Given the description of an element on the screen output the (x, y) to click on. 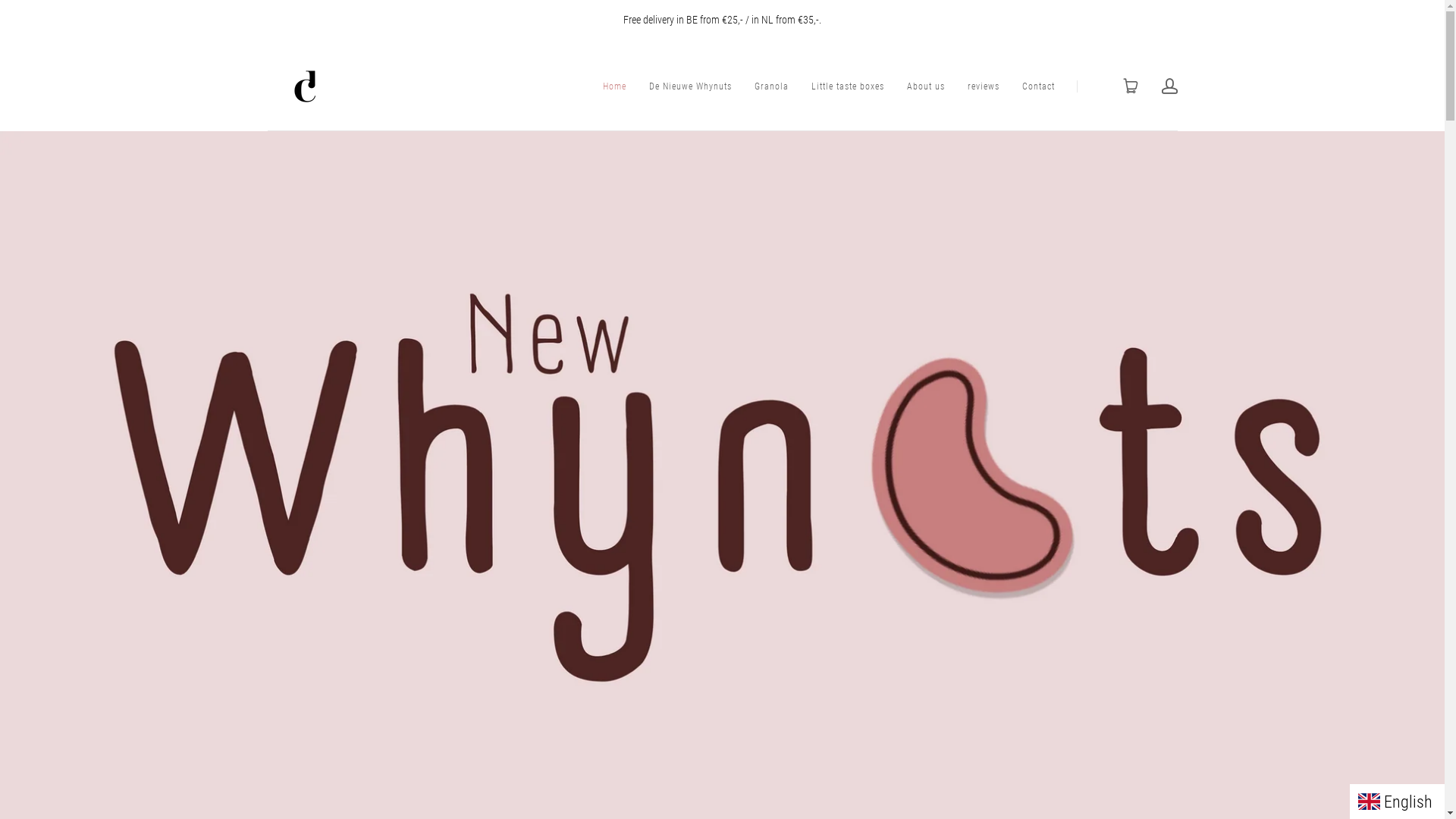
reviews Element type: text (983, 86)
About us Element type: text (925, 86)
Contact Element type: text (1038, 86)
Little taste boxes Element type: text (847, 86)
Granola Element type: text (770, 86)
Home Element type: text (613, 86)
De Nieuwe Whynuts Element type: text (690, 86)
English Element type: text (1397, 800)
